Given the description of an element on the screen output the (x, y) to click on. 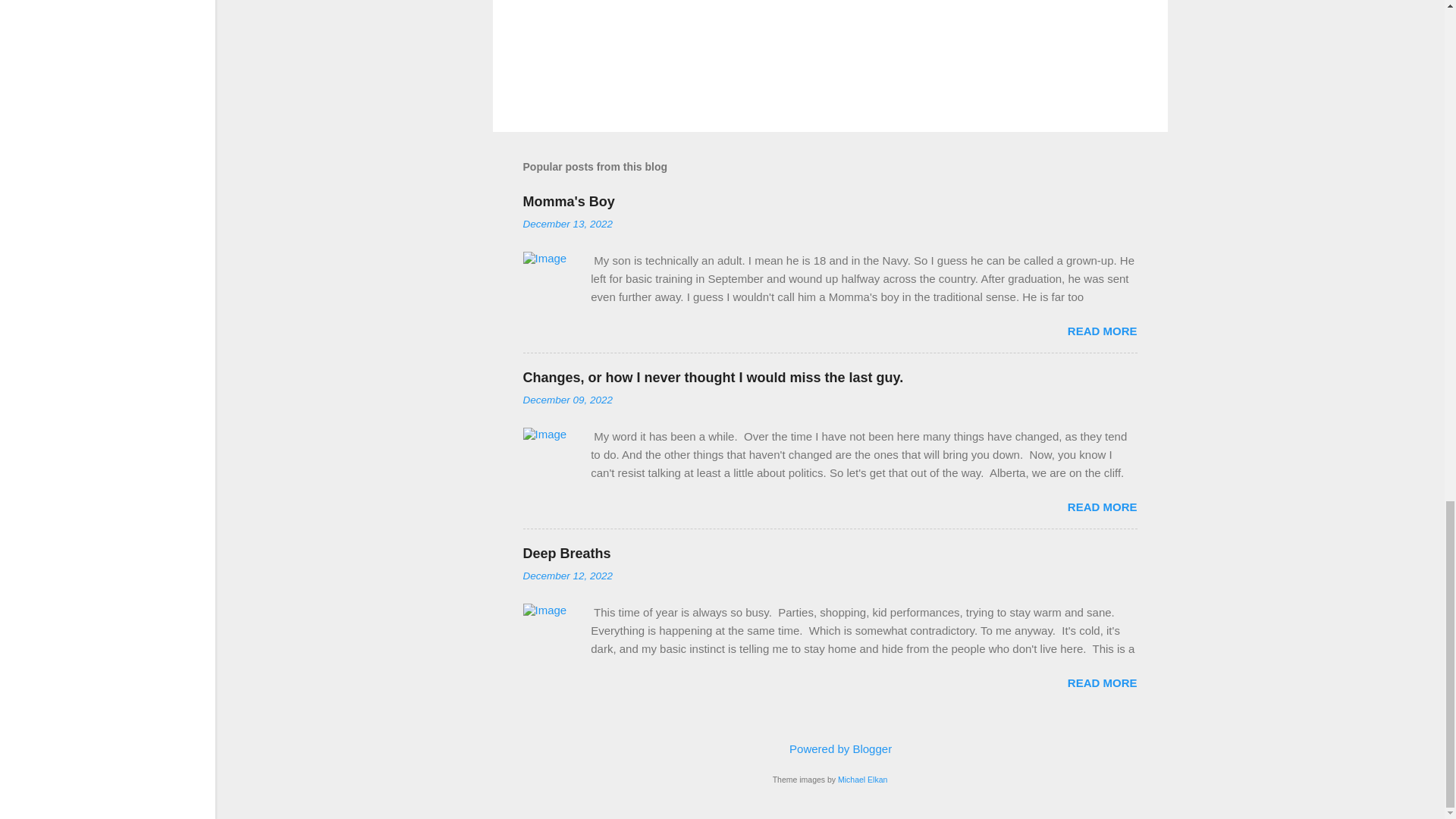
Michael Elkan (862, 778)
Momma's Boy (568, 201)
December 12, 2022 (567, 575)
December 13, 2022 (567, 224)
December 09, 2022 (567, 399)
permanent link (567, 224)
Powered by Blogger (829, 748)
Changes, or how I never thought I would miss the last guy. (713, 377)
READ MORE (1102, 330)
READ MORE (1102, 506)
READ MORE (1102, 682)
Deep Breaths (566, 553)
